Given the description of an element on the screen output the (x, y) to click on. 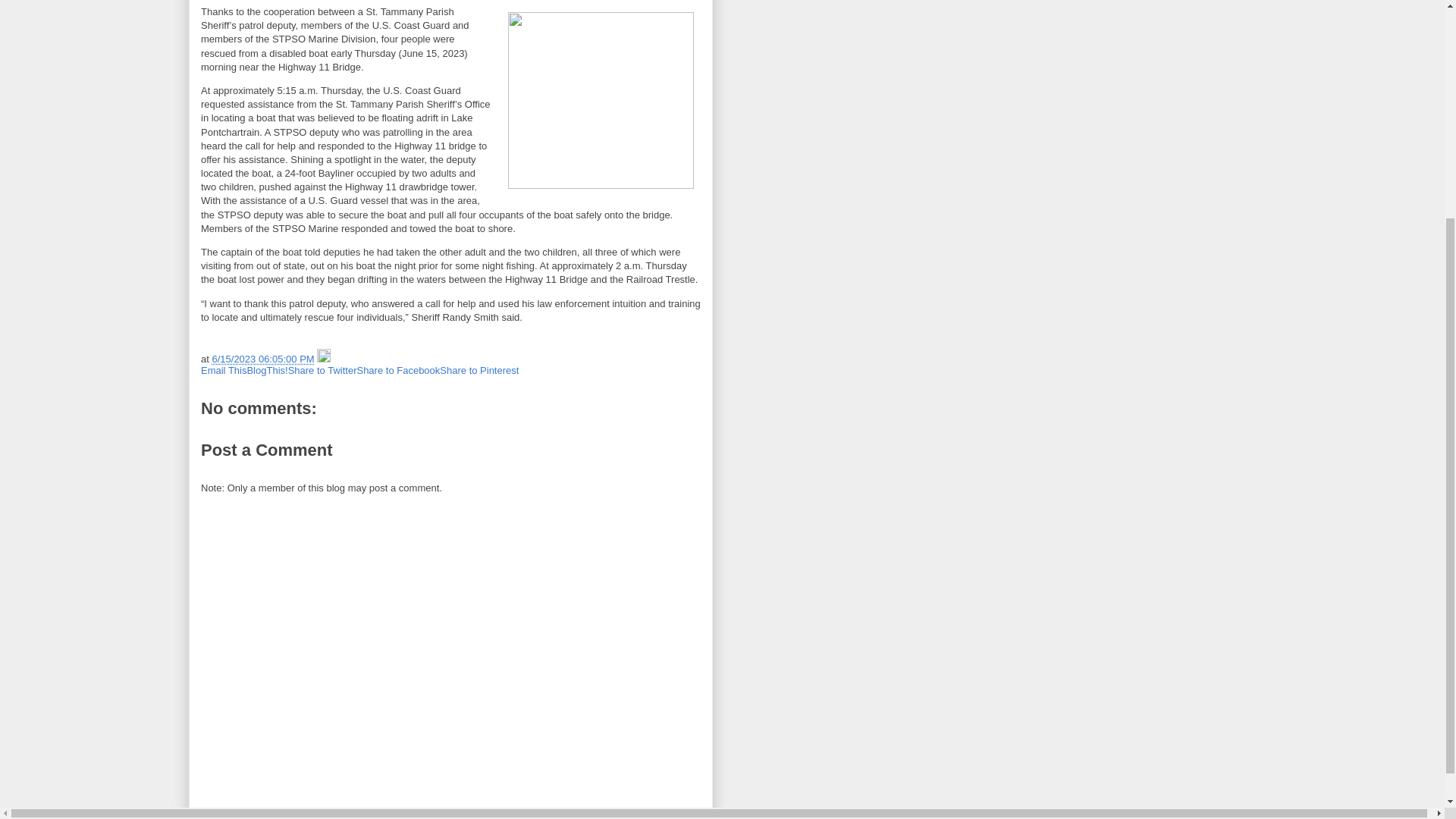
permanent link (262, 358)
Share to Twitter (322, 369)
Share to Twitter (322, 369)
Share to Facebook (397, 369)
BlogThis! (266, 369)
Share to Facebook (397, 369)
Share to Pinterest (478, 369)
Email This (223, 369)
Share to Pinterest (478, 369)
BlogThis! (266, 369)
Email This (223, 369)
Edit Post (323, 358)
